Given the description of an element on the screen output the (x, y) to click on. 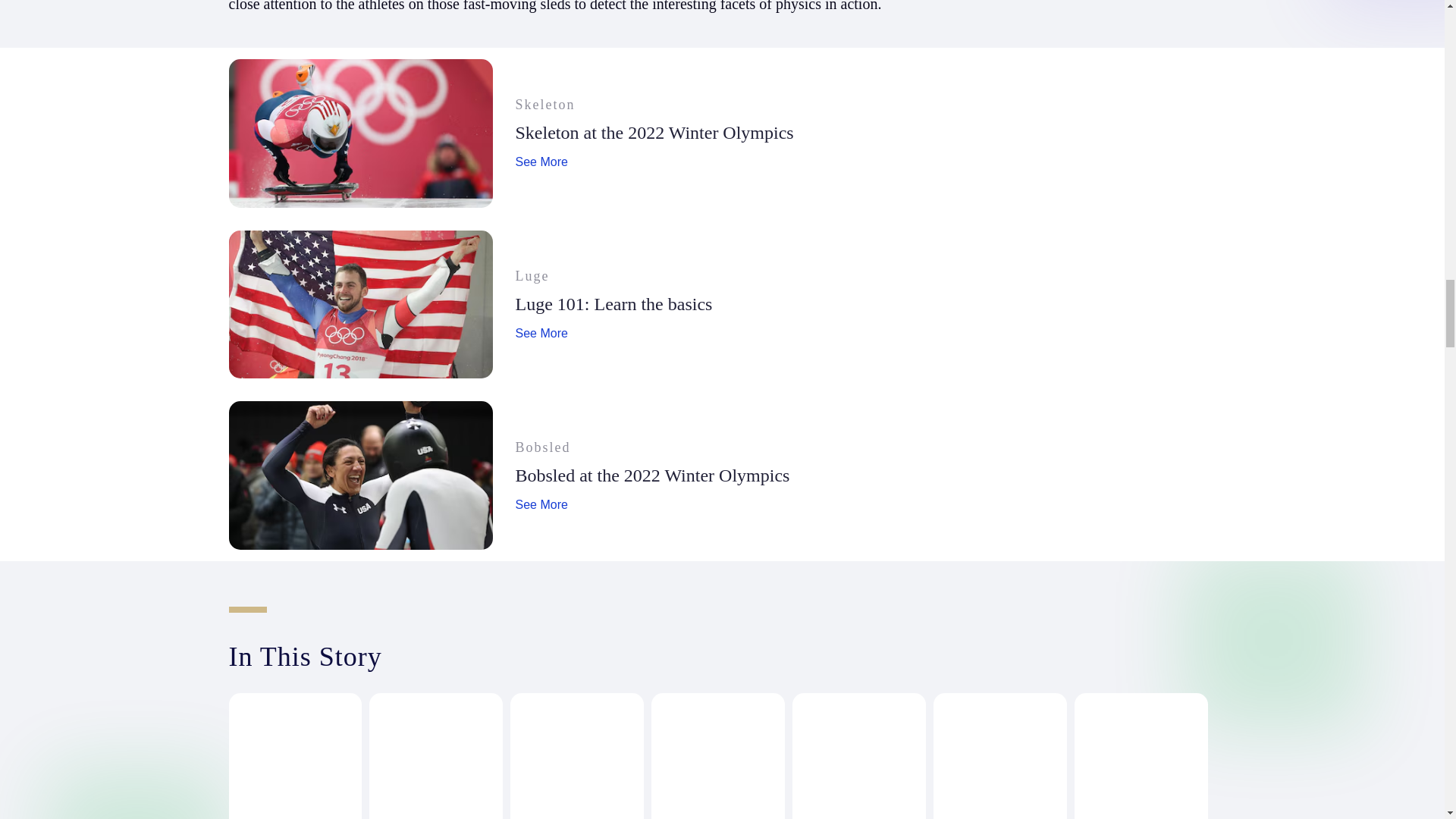
Bobsled at the 2022 Winter Olympics (541, 505)
Luge 101: Learn the basics (652, 475)
Skeleton at the 2022 Winter Olympics (614, 303)
